Given the description of an element on the screen output the (x, y) to click on. 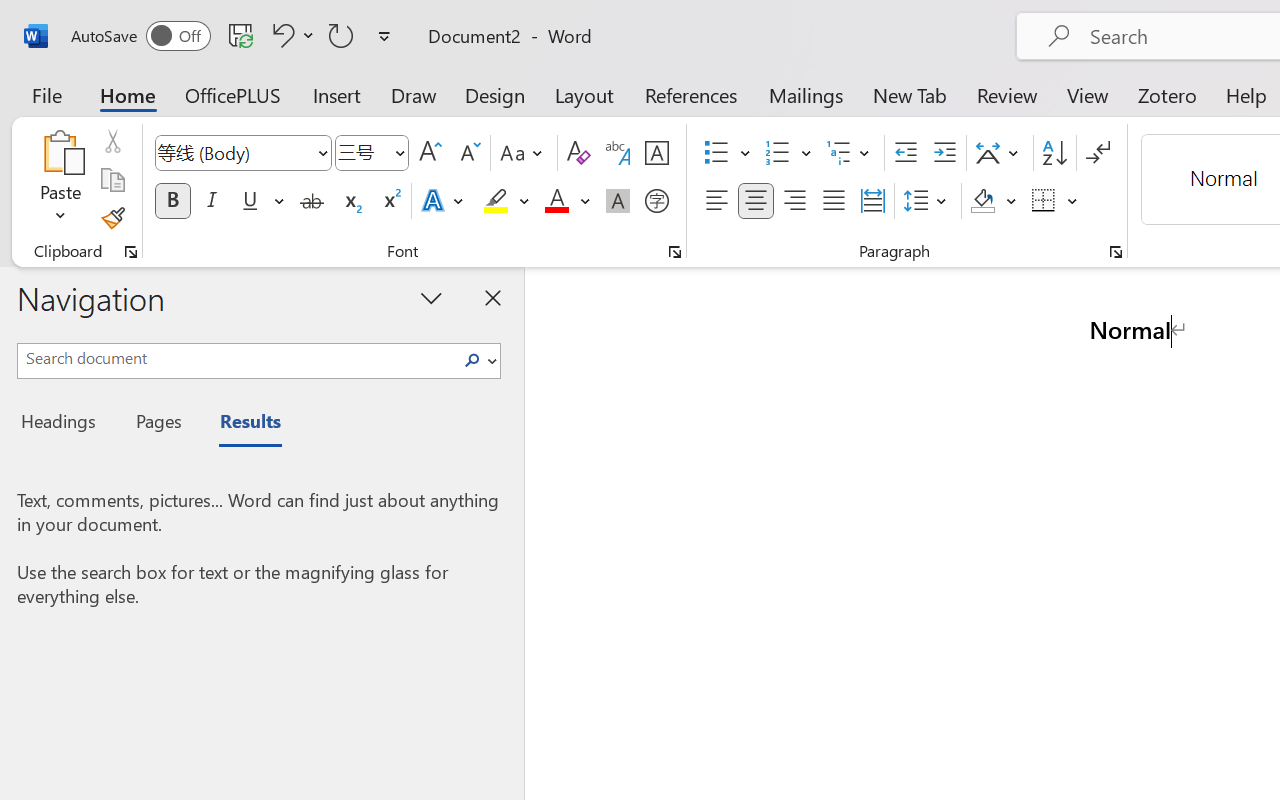
Insert (337, 94)
Font... (675, 252)
Strikethrough (312, 201)
Home (127, 94)
Copy (112, 179)
Text Highlight Color (506, 201)
Paragraph... (1115, 252)
Clear Formatting (578, 153)
Zotero (1166, 94)
Enclose Characters... (656, 201)
Draw (413, 94)
Search document (236, 358)
Save (241, 35)
Repeat Style (341, 35)
Task Pane Options (431, 297)
